Given the description of an element on the screen output the (x, y) to click on. 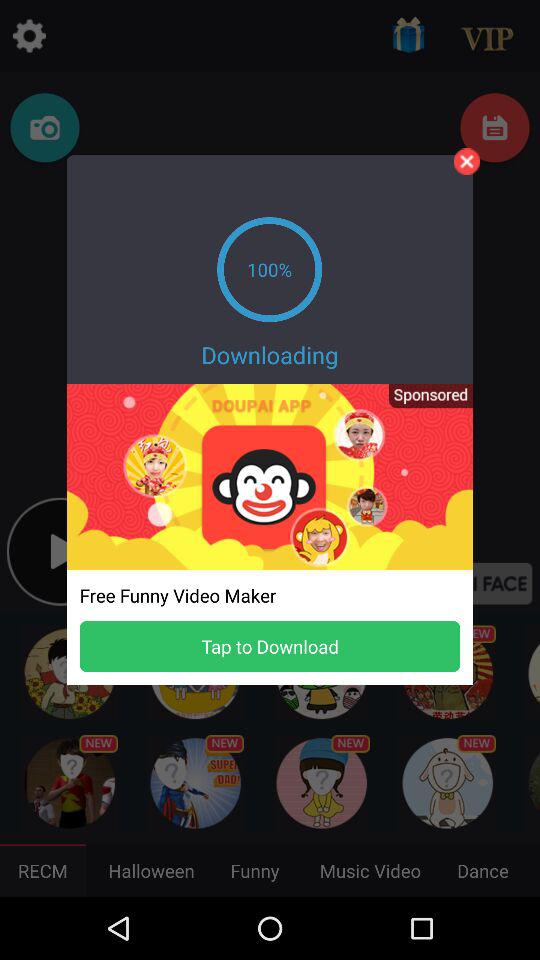
select icon below free funny video (269, 646)
